Given the description of an element on the screen output the (x, y) to click on. 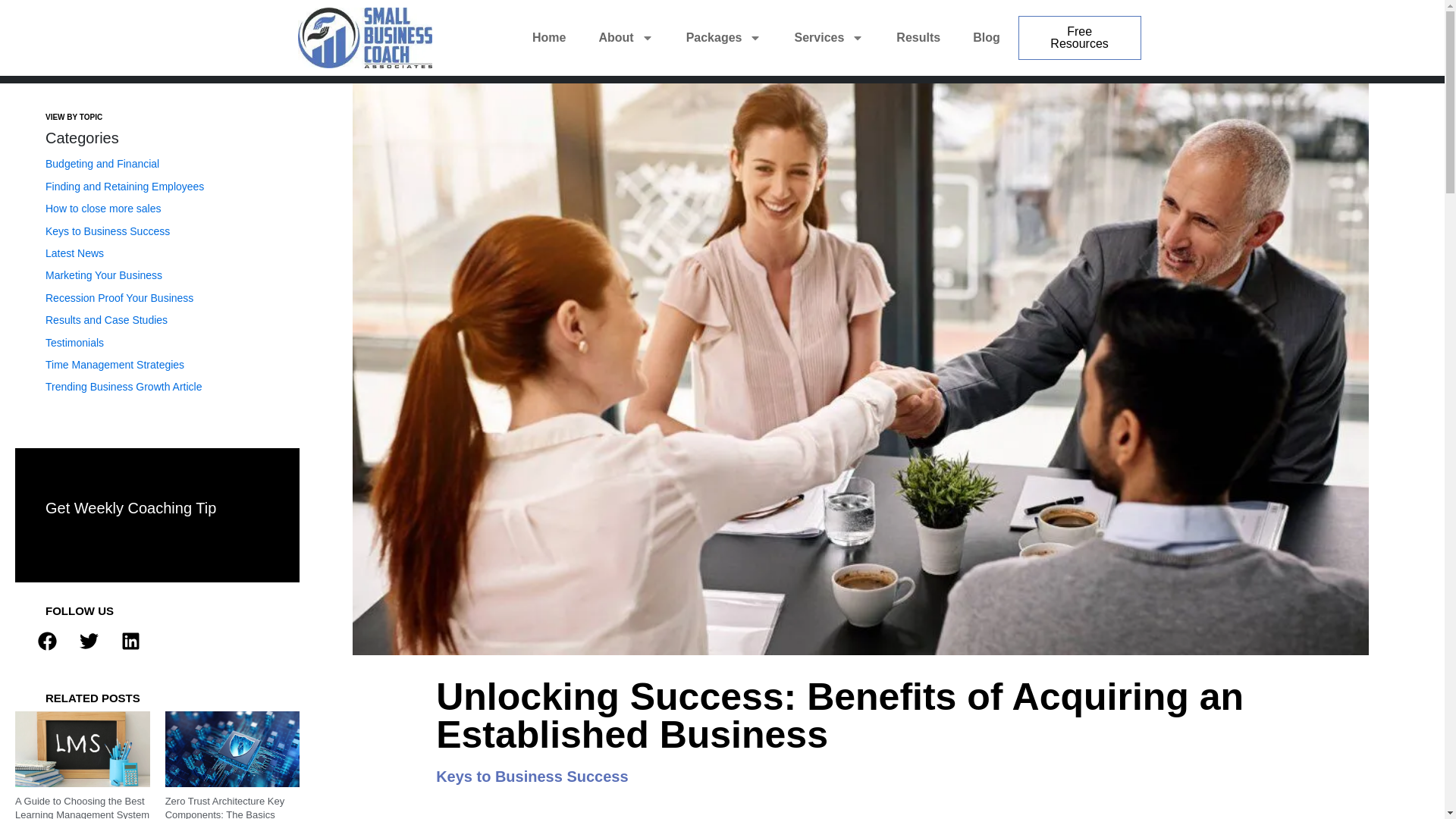
Free Resources (1079, 37)
Packages (723, 37)
Results (918, 37)
About (625, 37)
Services (828, 37)
Home (549, 37)
Blog (986, 37)
